Given the description of an element on the screen output the (x, y) to click on. 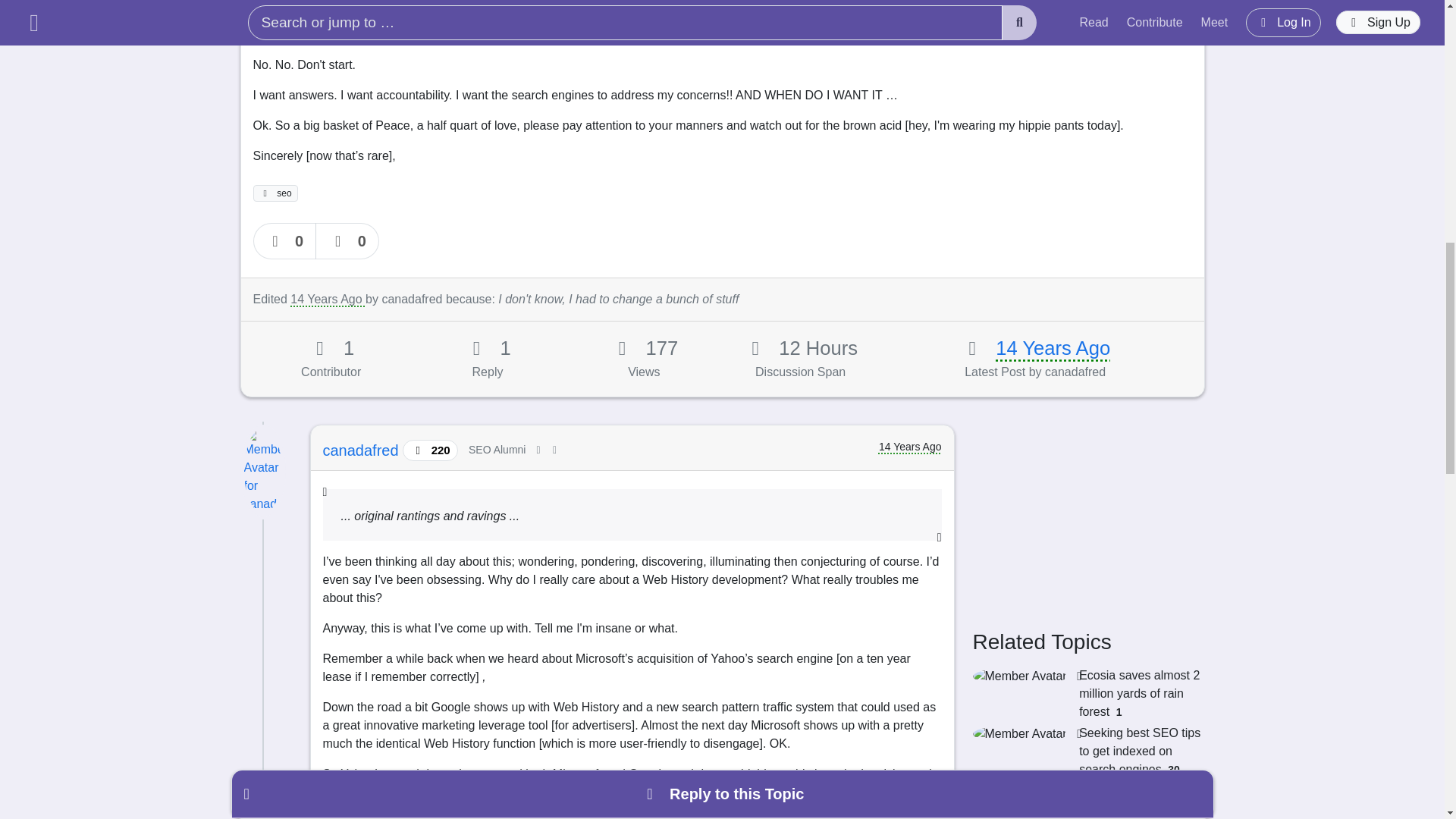
Alfresco's John Newton Gives His View on the Cloud 4 (1088, 800)
0 (285, 240)
seo (275, 193)
0 (346, 240)
Seeking best SEO tips to get indexed on search engines 30 (1088, 750)
canadafred (363, 450)
Ecosia saves almost 2 million yards of rain forest 1 (1088, 693)
14 Years Ago (1052, 347)
